Given the description of an element on the screen output the (x, y) to click on. 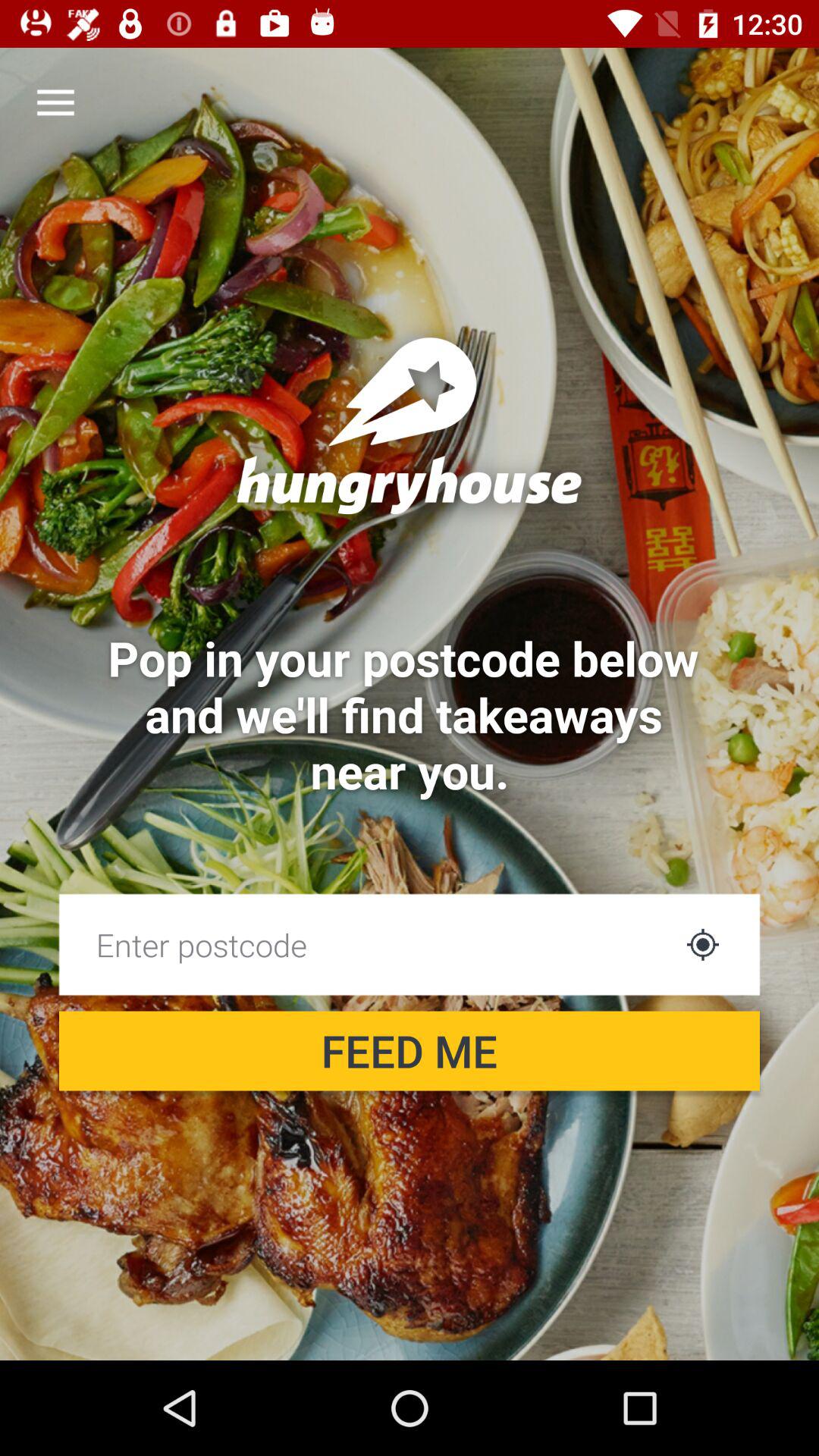
text box to enter zip code (365, 944)
